Given the description of an element on the screen output the (x, y) to click on. 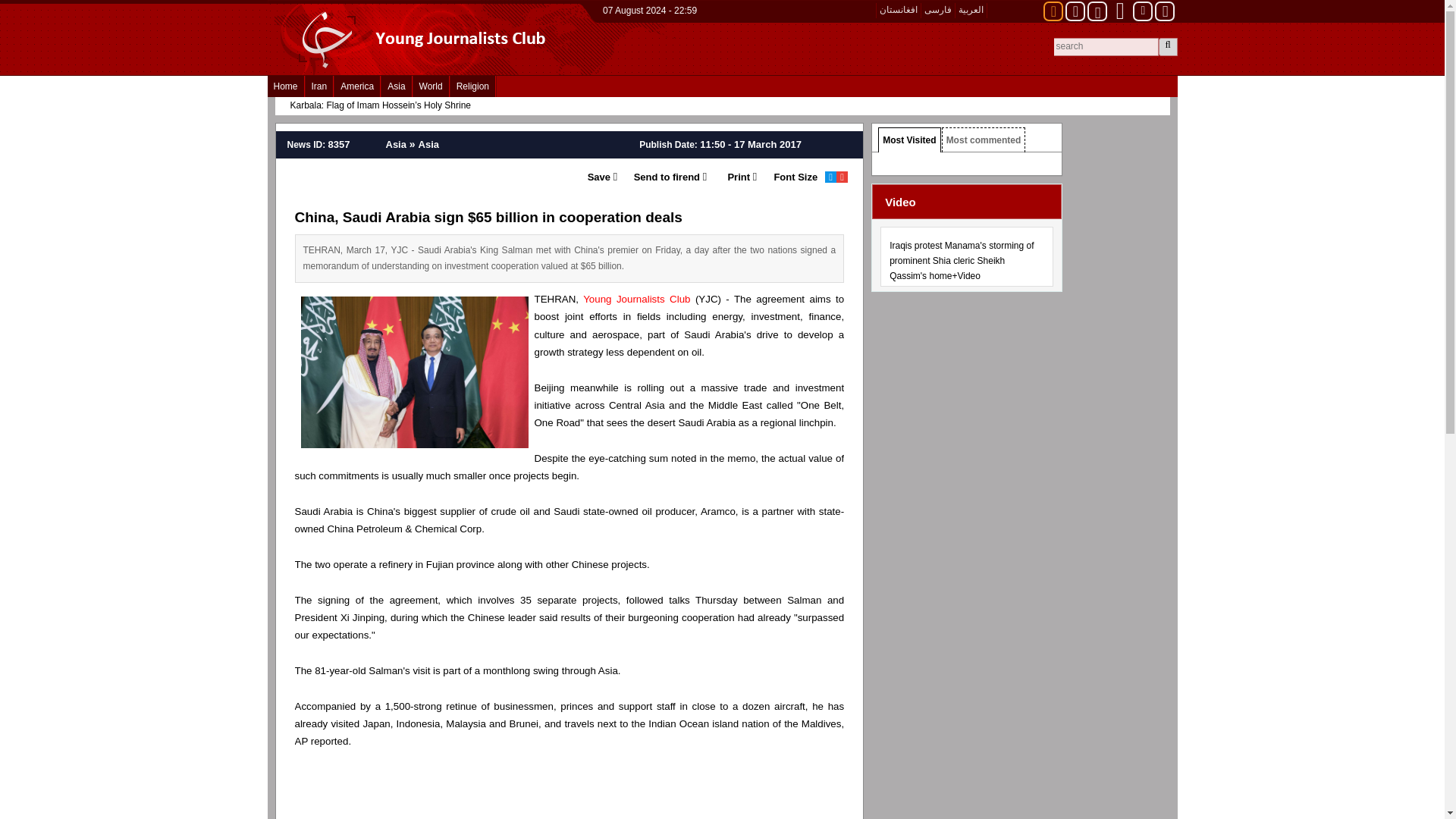
Print (731, 177)
Iran (319, 86)
Save (598, 177)
America (357, 86)
Send to friends (661, 177)
World (430, 86)
Home (284, 86)
Religion (472, 86)
Asia (395, 86)
